Given the description of an element on the screen output the (x, y) to click on. 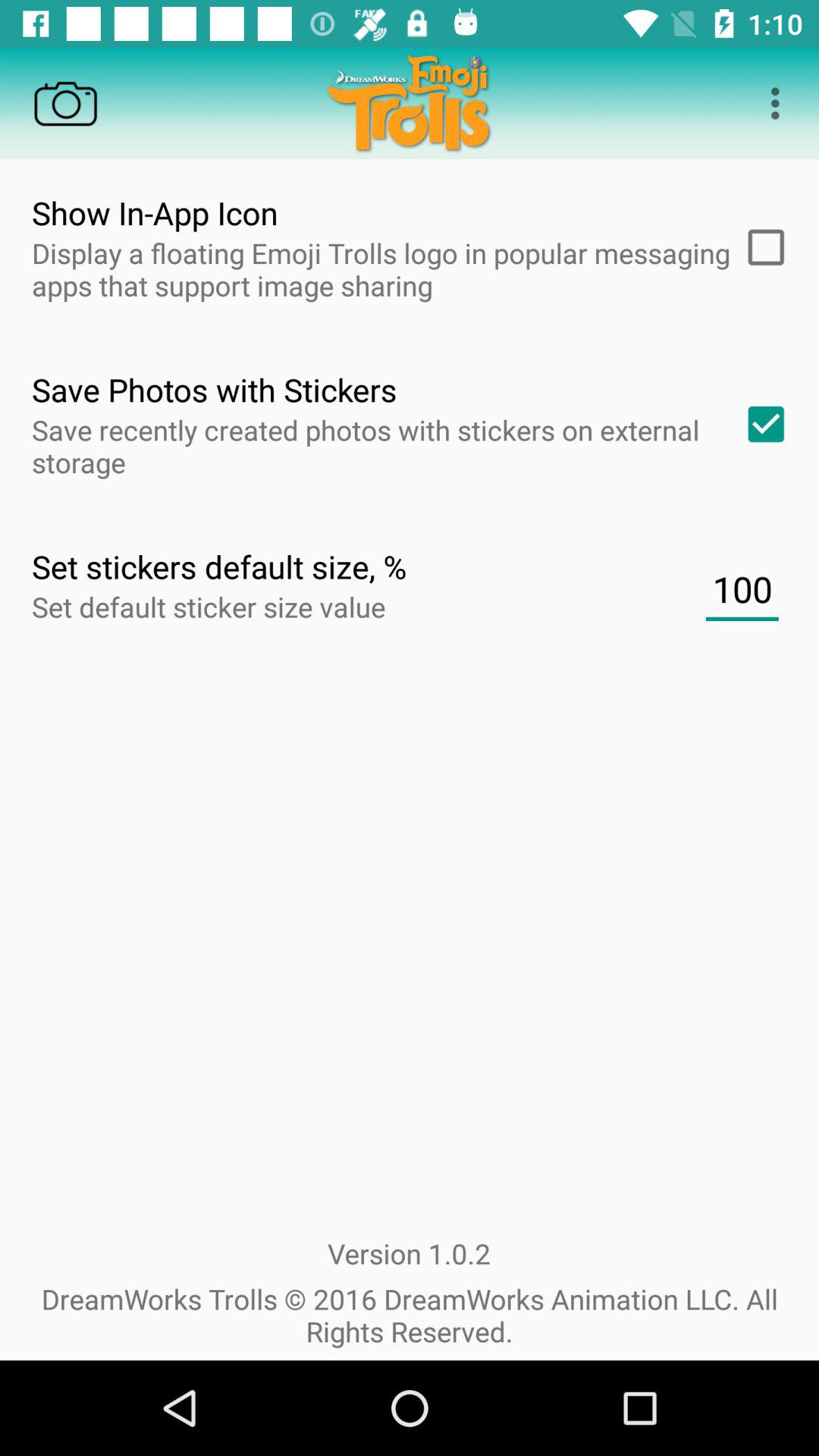
tick the box (760, 247)
